Given the description of an element on the screen output the (x, y) to click on. 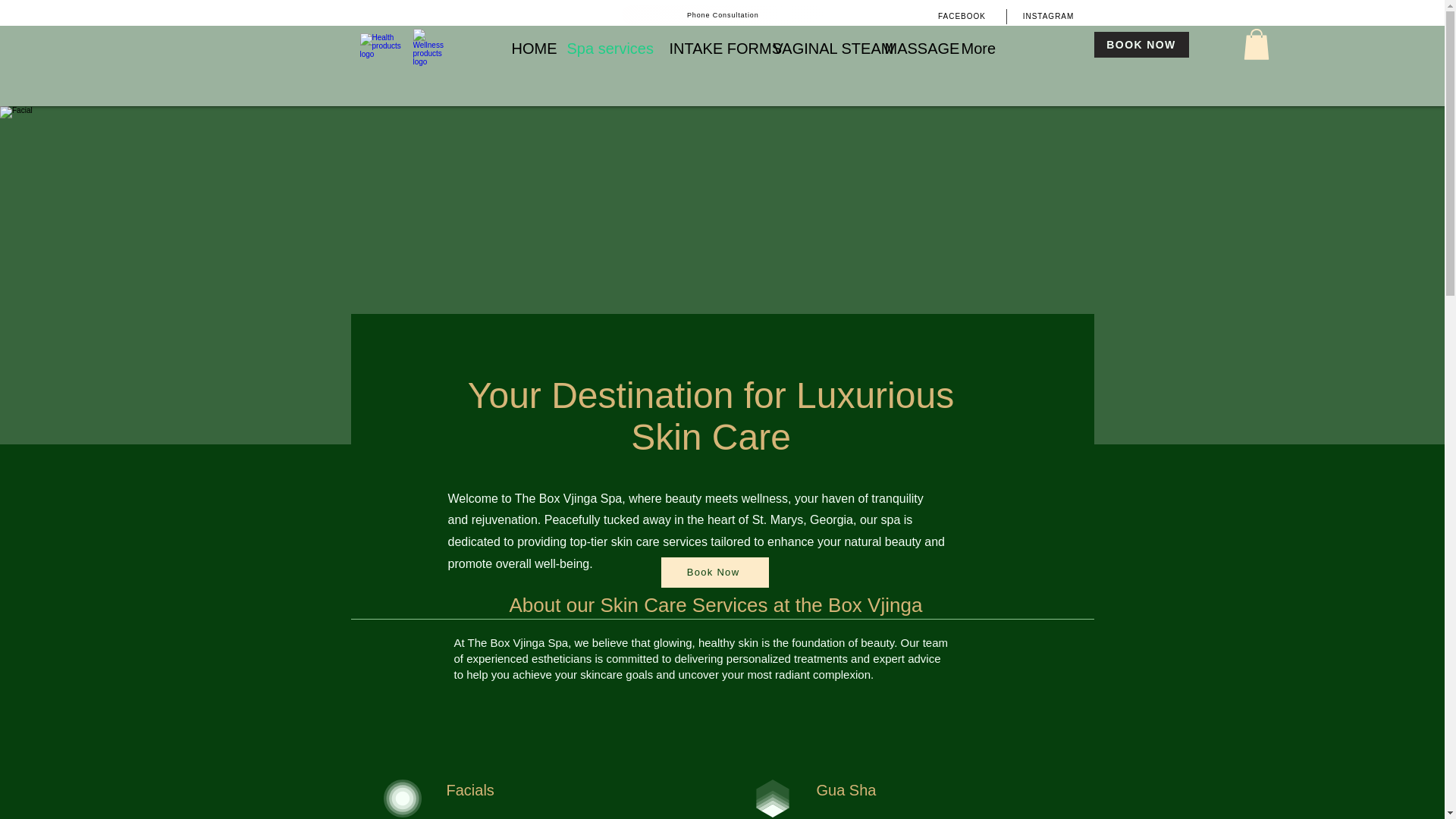
VAGINAL STEAM (816, 46)
FACEBOOK (961, 15)
HOME (528, 46)
Phone Consultation (722, 14)
INSTAGRAM (1048, 15)
BOOK NOW (1140, 44)
INTAKE FORMS (709, 46)
Spa services (606, 46)
Book Now (714, 572)
MASSAGE (911, 46)
